Given the description of an element on the screen output the (x, y) to click on. 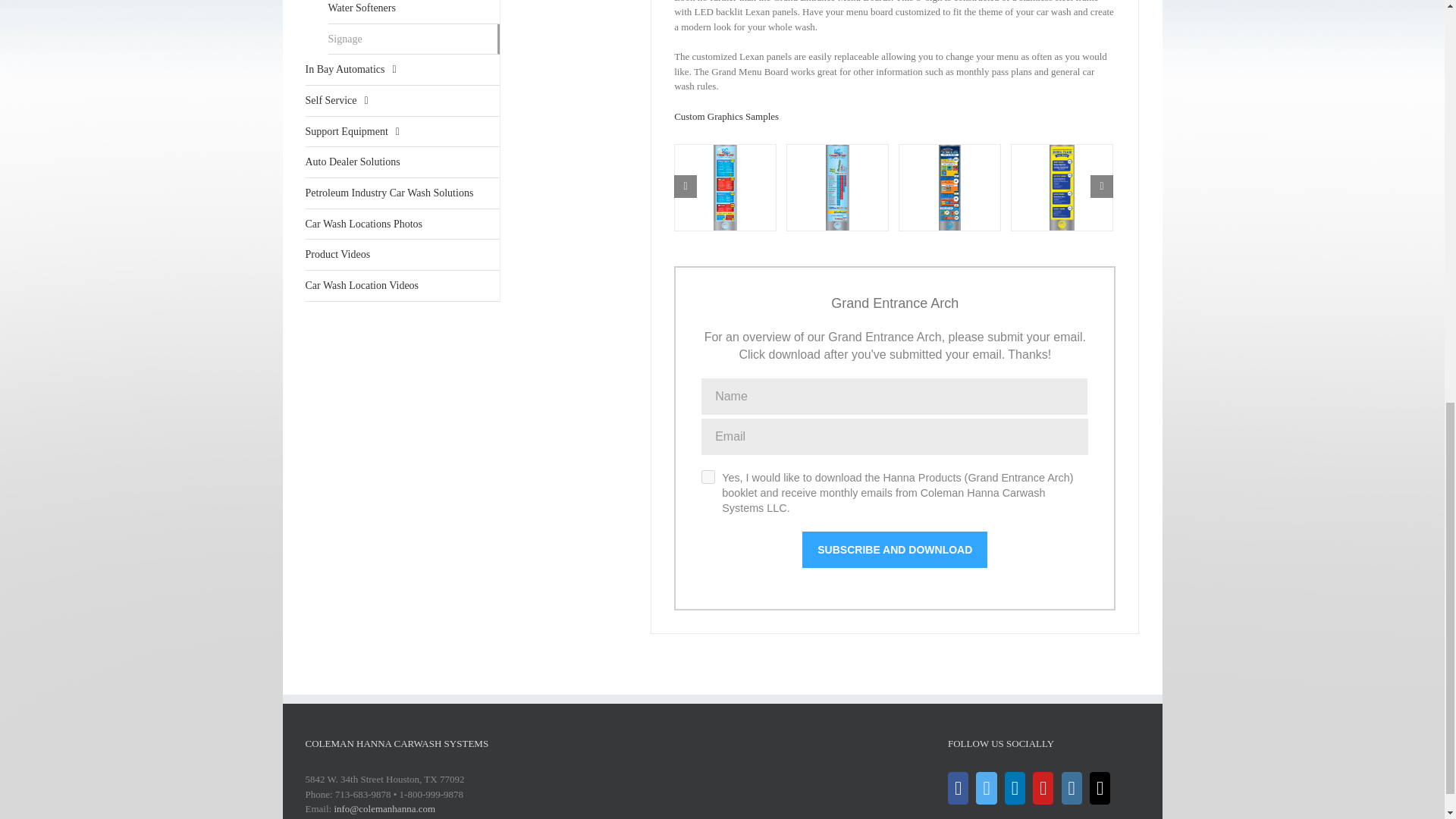
on (707, 477)
Subscribe and Download (894, 549)
